Given the description of an element on the screen output the (x, y) to click on. 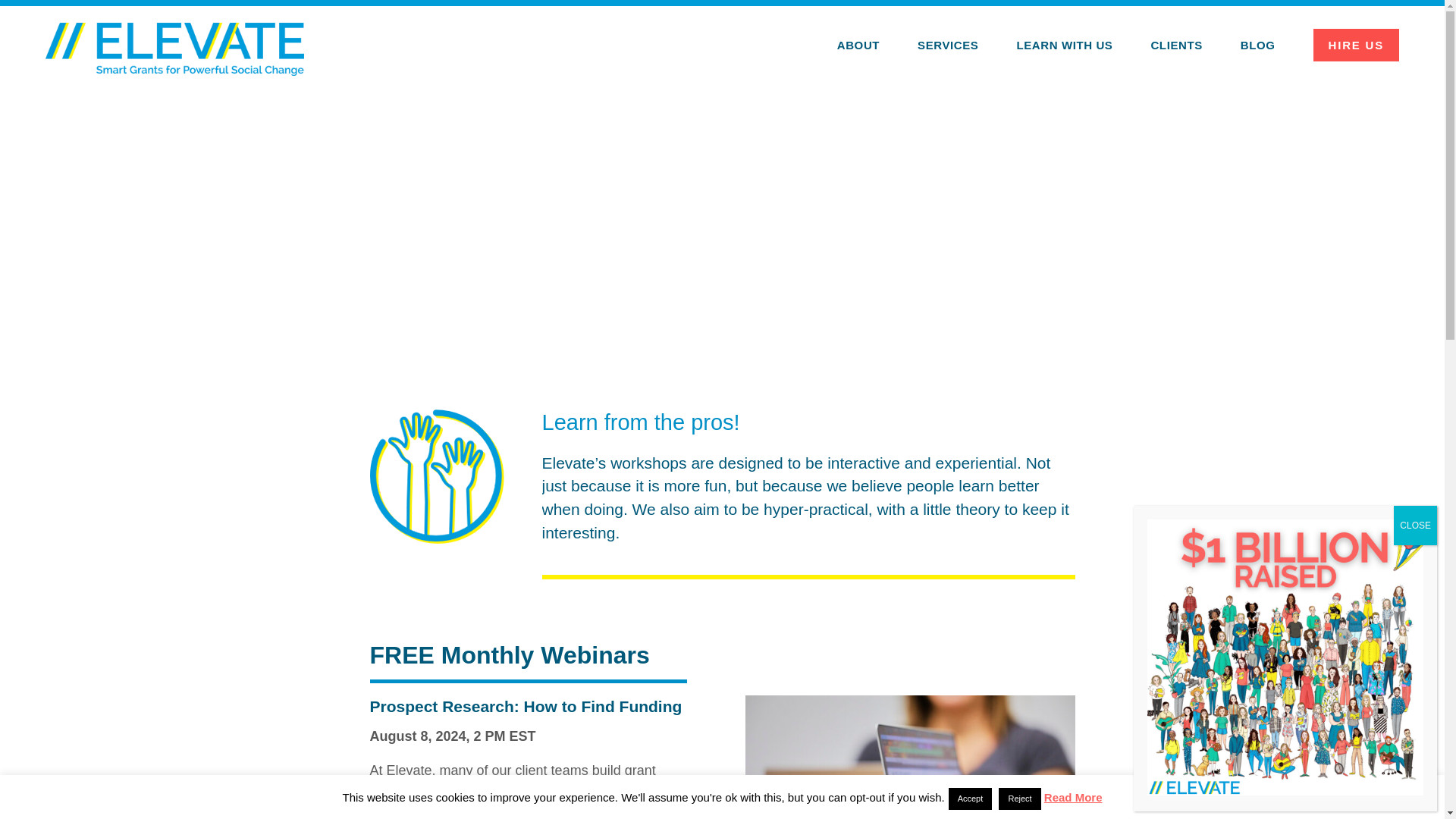
SERVICES (947, 44)
ABOUT (858, 44)
